Given the description of an element on the screen output the (x, y) to click on. 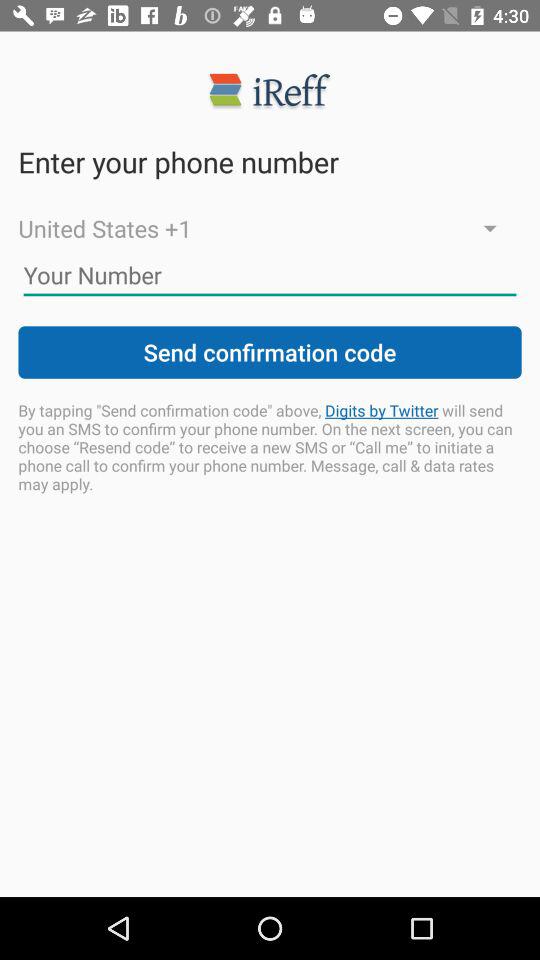
flip to the by tapping send icon (269, 446)
